Given the description of an element on the screen output the (x, y) to click on. 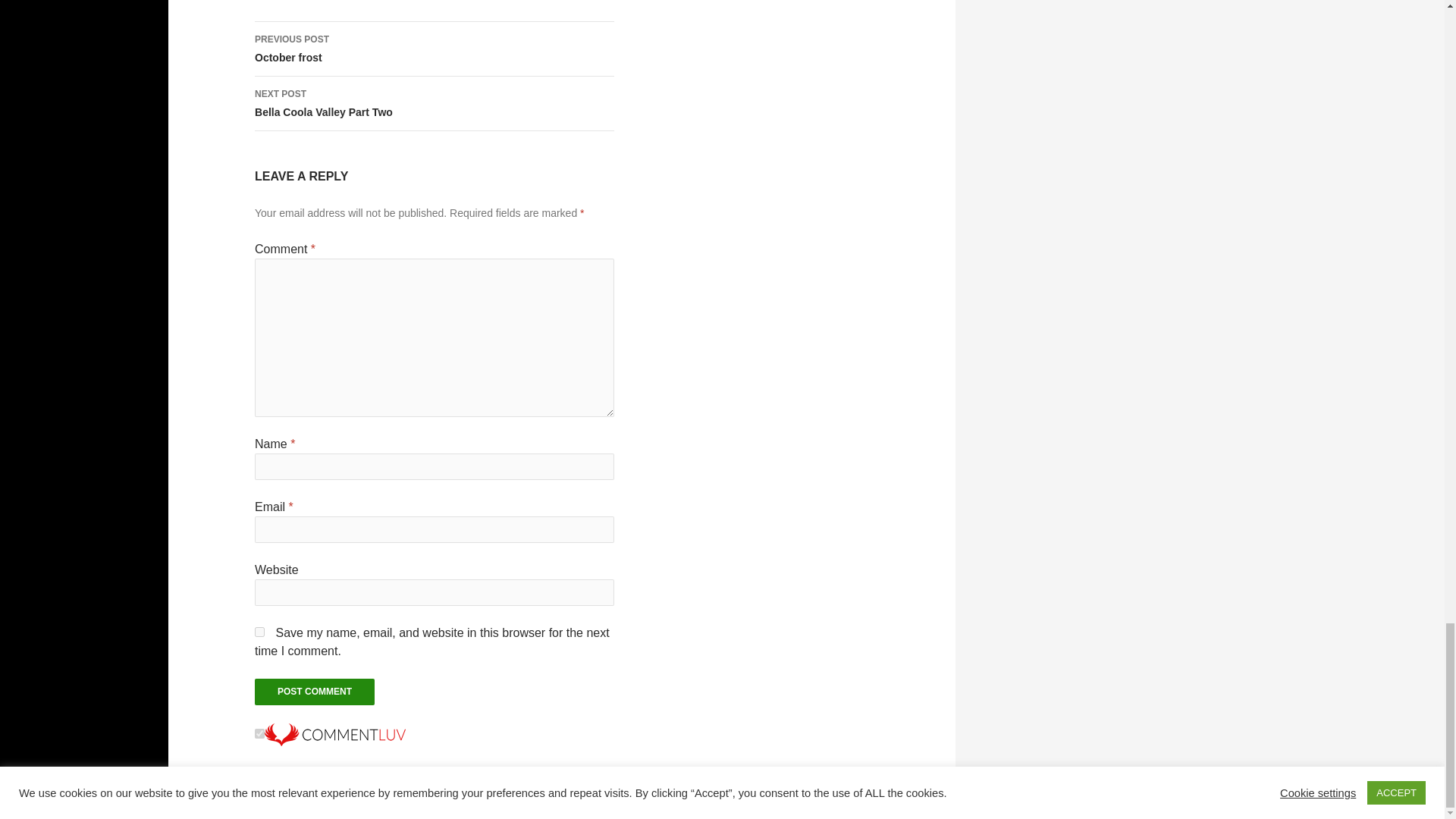
Post Comment (314, 691)
on (259, 733)
yes (259, 632)
